Given the description of an element on the screen output the (x, y) to click on. 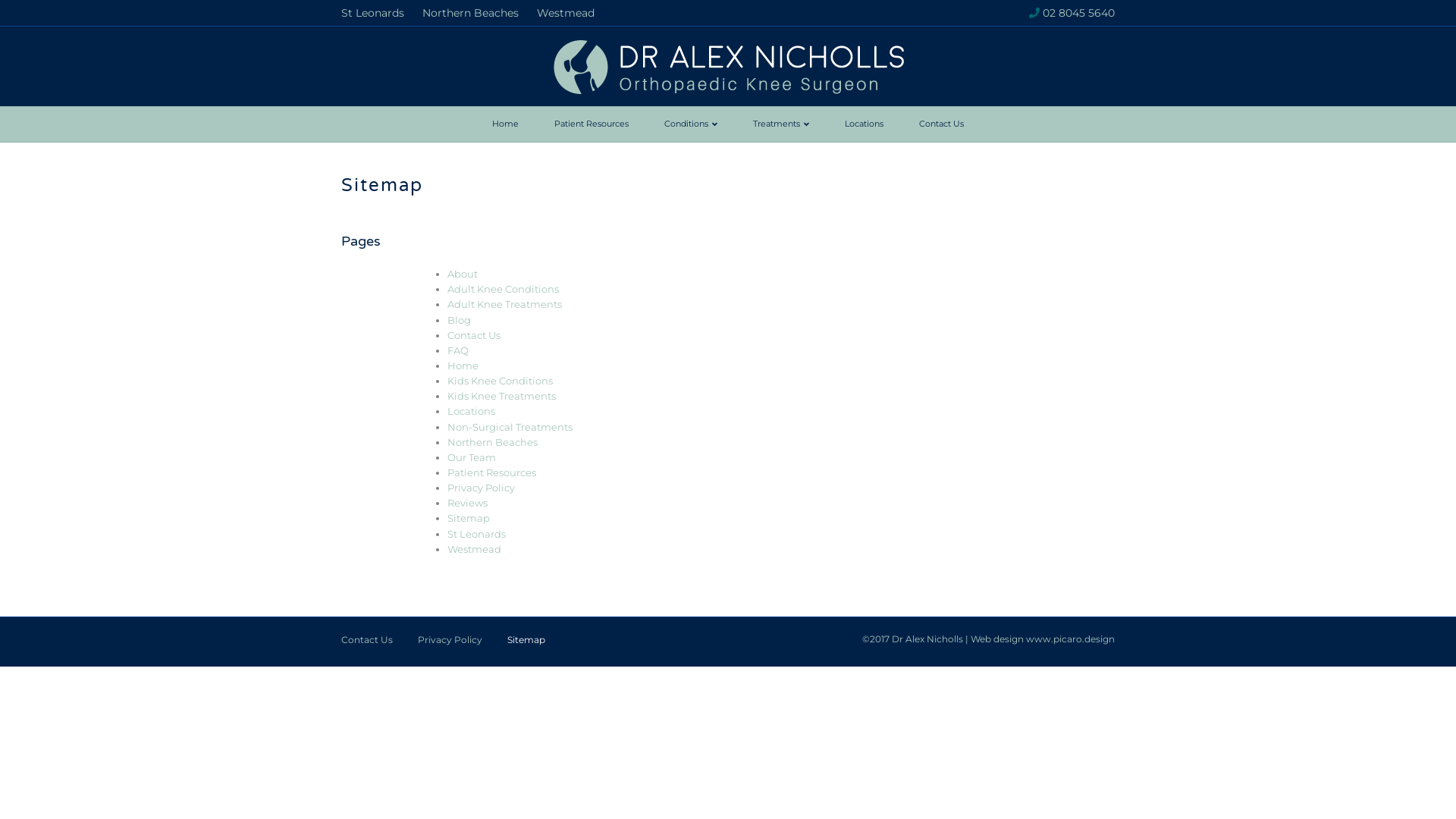
www.picaro.design Element type: text (1070, 638)
Home Element type: text (462, 365)
Kids Knee Treatments Element type: text (501, 395)
Patient Resources Element type: text (491, 472)
Home Element type: text (505, 123)
Contact Us Element type: text (941, 123)
Privacy Policy Element type: text (480, 487)
Northern Beaches Element type: text (470, 12)
Reviews Element type: text (467, 502)
Non-Surgical Treatments Element type: text (509, 426)
FAQ Element type: text (457, 350)
Our Team Element type: text (471, 457)
Westmead Element type: text (474, 548)
Patient Resources Element type: text (591, 123)
Privacy Policy Element type: text (449, 645)
02 8045 5640 Element type: text (1078, 12)
Blog Element type: text (458, 319)
Westmead Element type: text (565, 12)
Conditions Element type: text (690, 123)
About Element type: text (462, 273)
Locations Element type: text (471, 410)
Sitemap Element type: text (468, 517)
Adult Knee Treatments Element type: text (504, 304)
Northern Beaches Element type: text (492, 442)
St Leonards Element type: text (476, 533)
Contact Us Element type: text (366, 645)
Treatments Element type: text (780, 123)
Locations Element type: text (864, 123)
Kids Knee Conditions Element type: text (499, 380)
Contact Us Element type: text (473, 335)
Adult Knee Conditions Element type: text (502, 288)
St Leonards Element type: text (372, 12)
Sitemap Element type: text (525, 645)
